Given the description of an element on the screen output the (x, y) to click on. 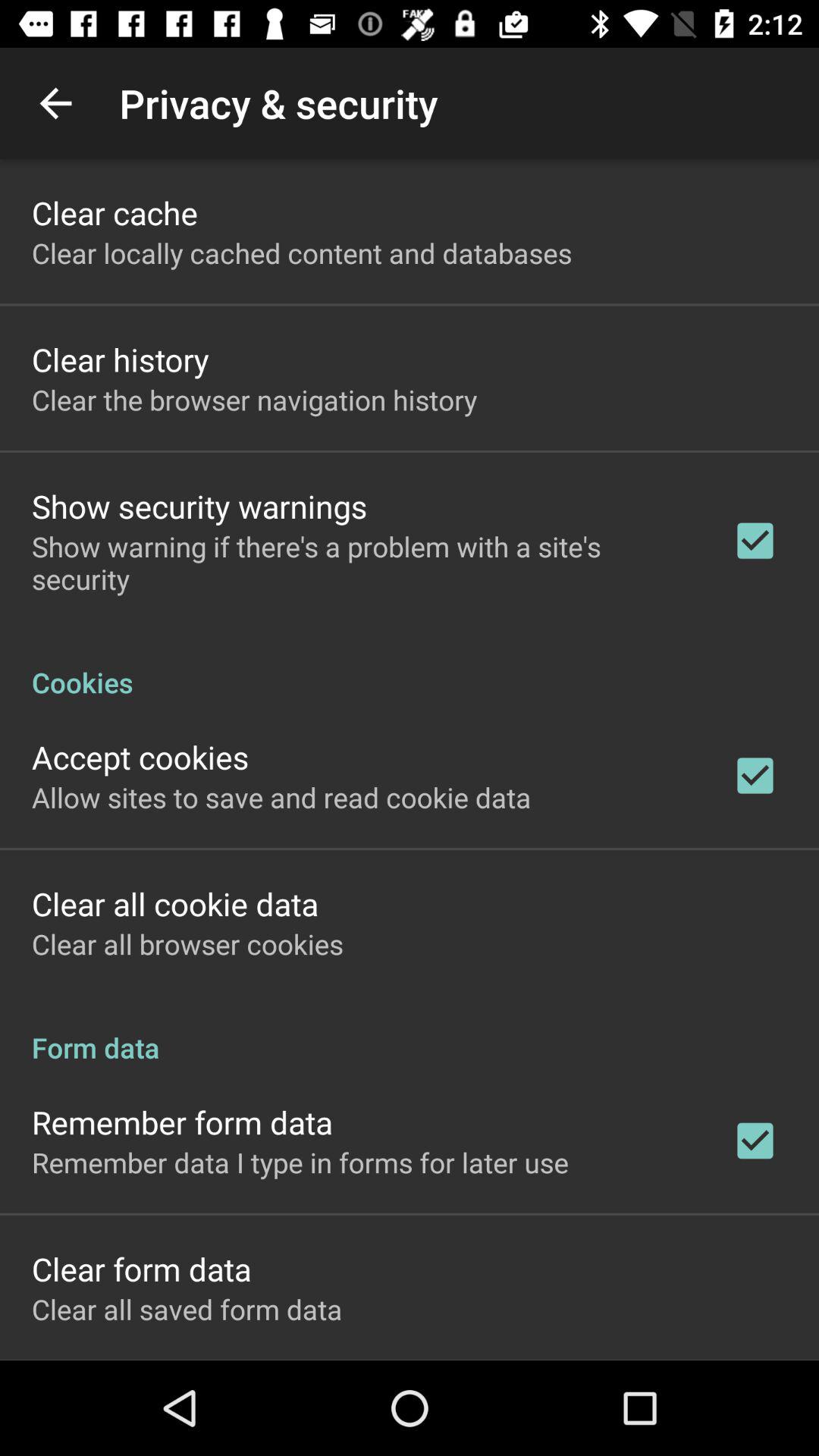
choose the second tick box (755, 776)
